Given the description of an element on the screen output the (x, y) to click on. 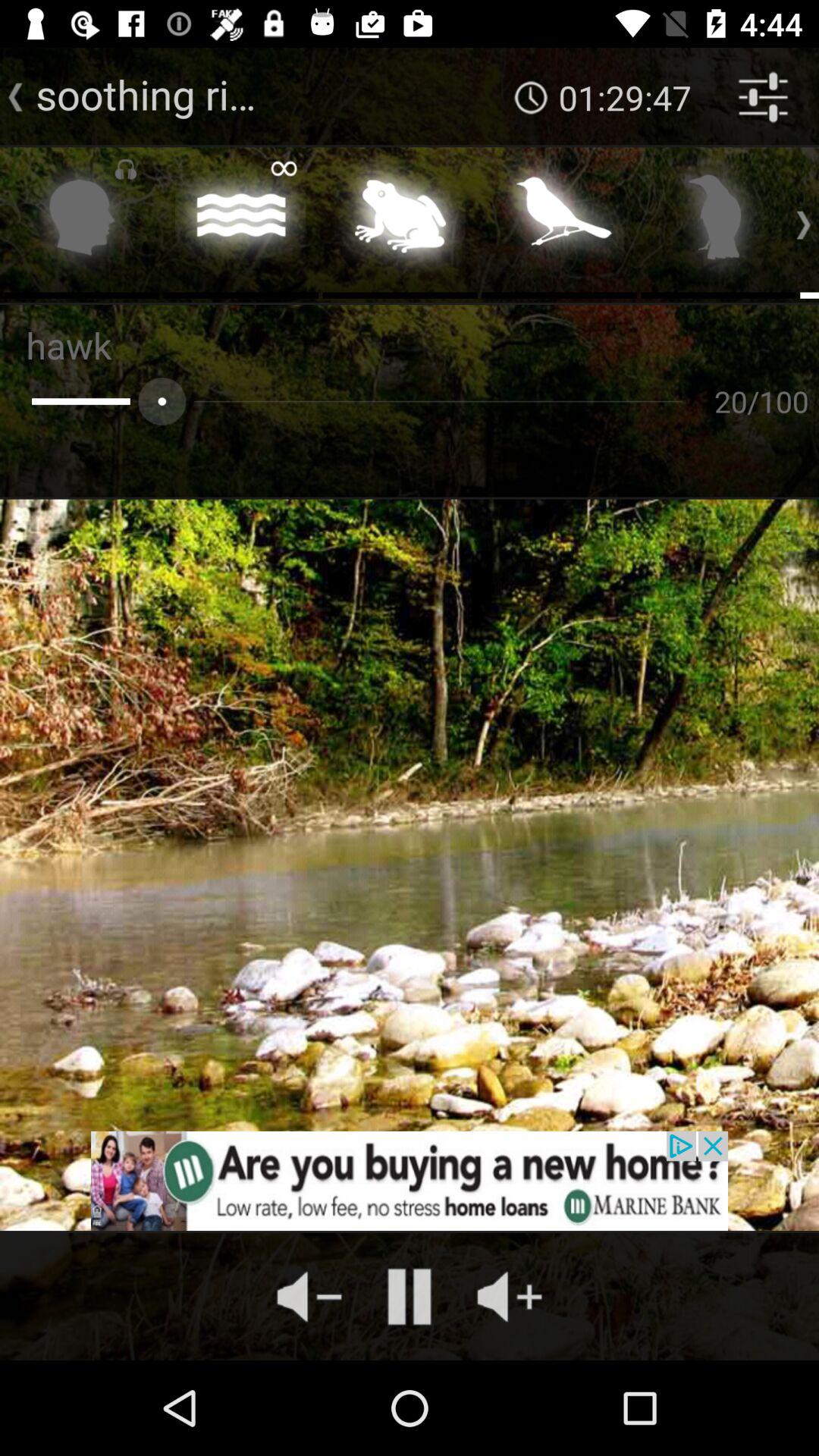
sound of frogs (399, 221)
